Given the description of an element on the screen output the (x, y) to click on. 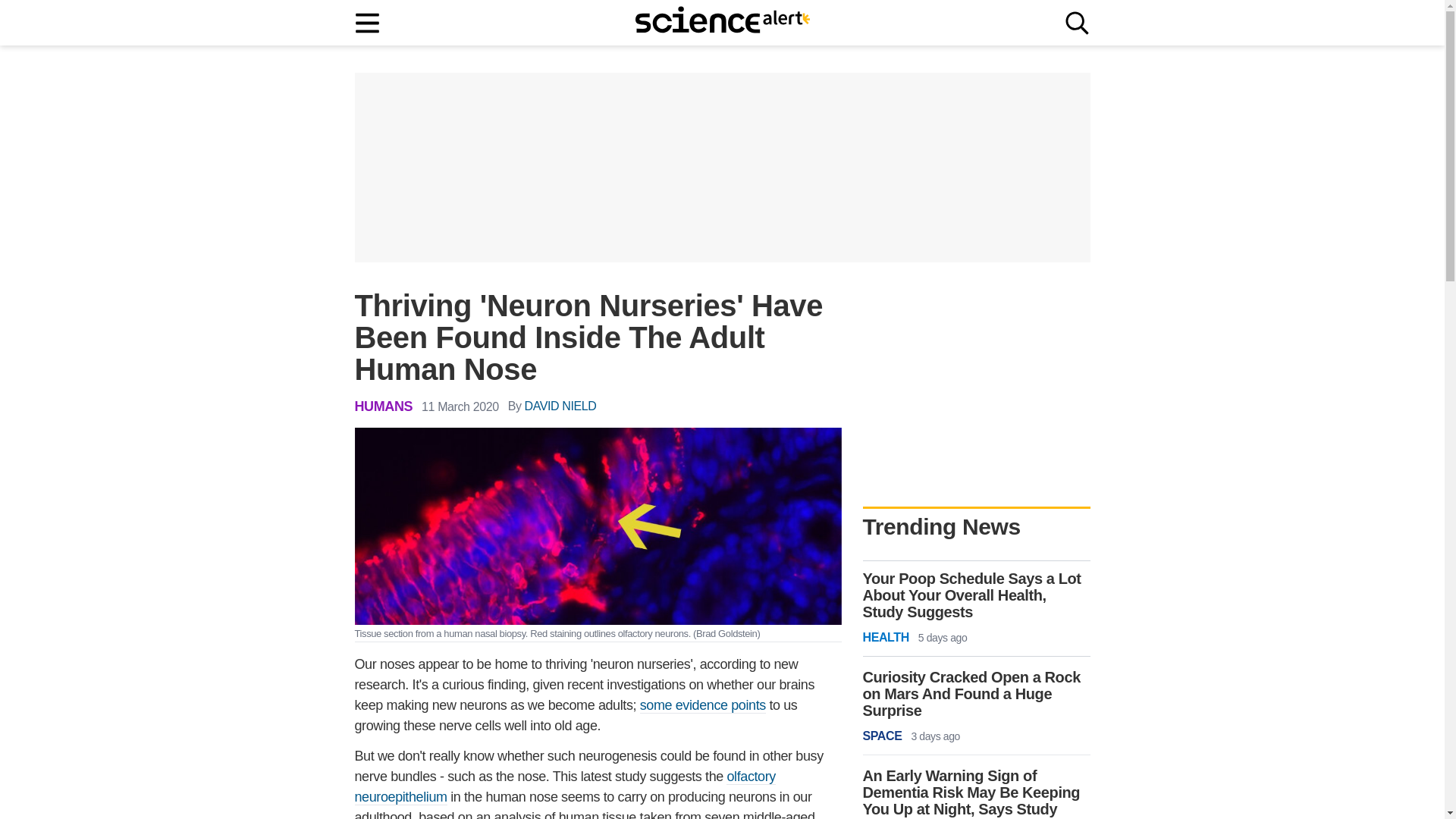
DAVID NIELD (560, 405)
HUMANS (384, 406)
some evidence points (702, 705)
olfactory neuroepithelium (565, 787)
